Given the description of an element on the screen output the (x, y) to click on. 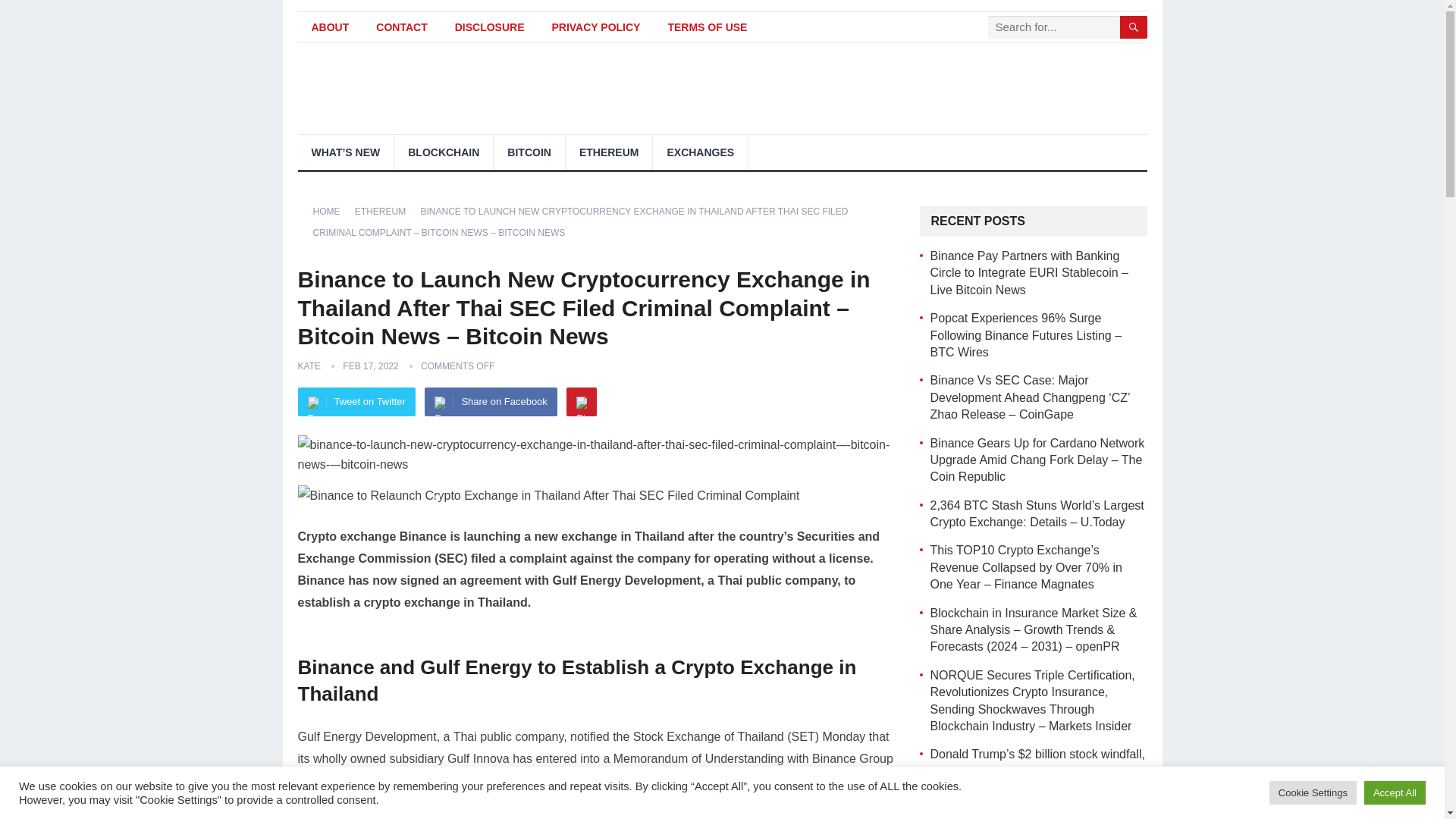
ETHEREUM (385, 211)
Tweet on Twitter (355, 401)
CONTACT (401, 27)
Share on Facebook (490, 401)
PRIVACY POLICY (595, 27)
View all posts in Ethereum (385, 211)
TERMS OF USE (706, 27)
ETHEREUM (609, 152)
EXCHANGES (700, 152)
BITCOIN (528, 152)
